Given the description of an element on the screen output the (x, y) to click on. 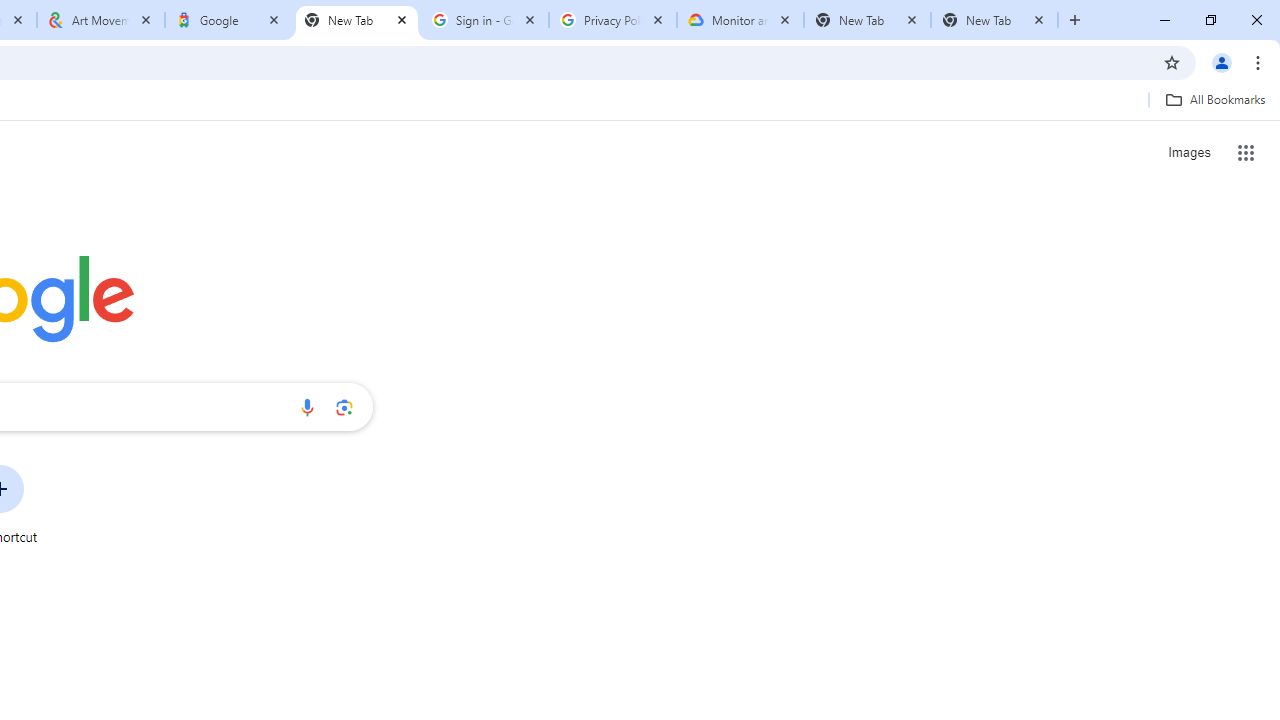
Chrome (1260, 62)
All Bookmarks (1215, 99)
Close (1039, 19)
